Given the description of an element on the screen output the (x, y) to click on. 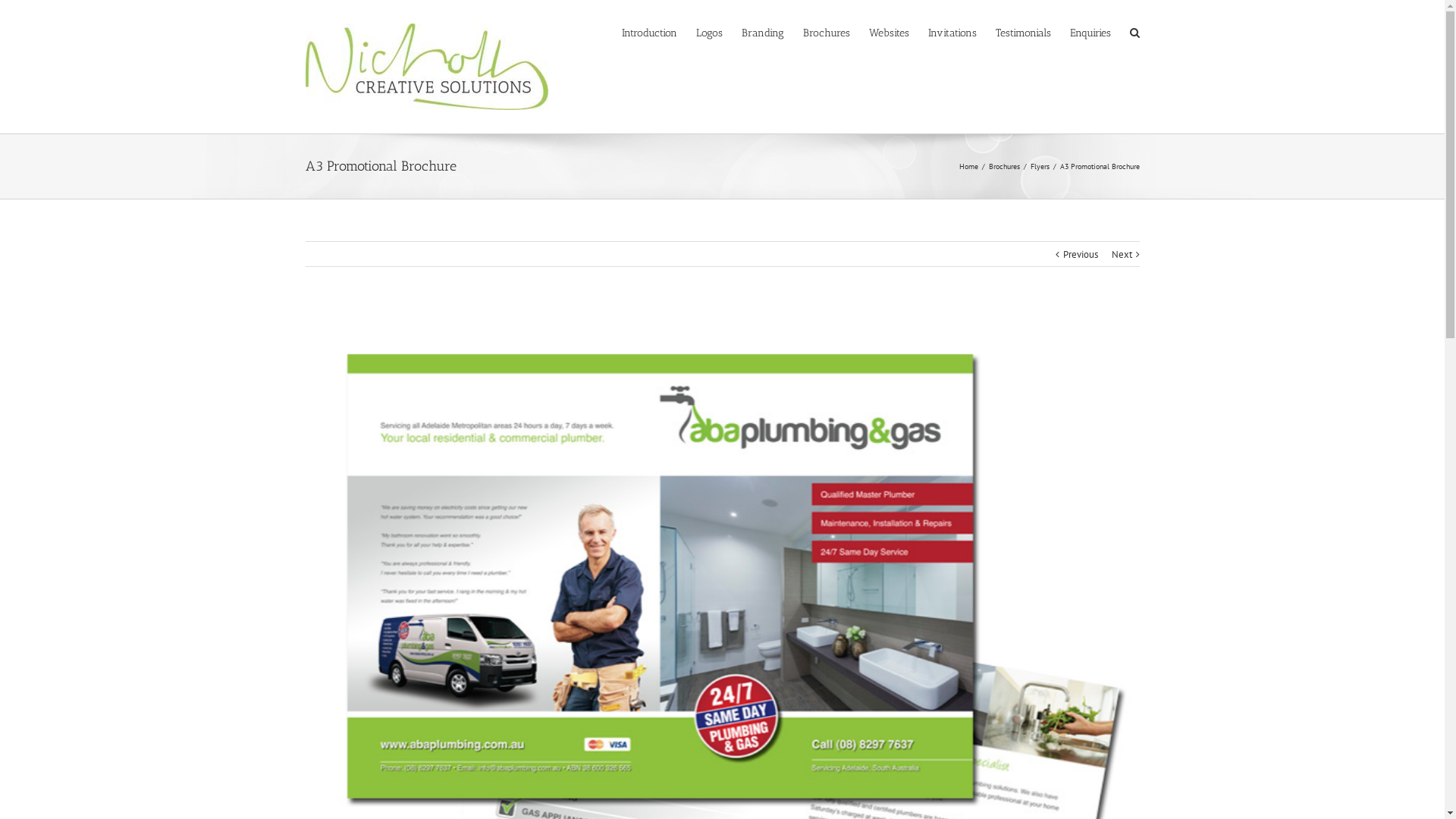
Branding Element type: text (762, 31)
Introduction Element type: text (649, 31)
Invitations Element type: text (952, 31)
Websites Element type: text (889, 31)
Home Element type: text (967, 166)
Logos Element type: text (709, 31)
Brochures Element type: text (1003, 166)
Previous Element type: text (1080, 254)
Flyers Element type: text (1038, 166)
Testimonials Element type: text (1022, 31)
Enquiries Element type: text (1089, 31)
Brochures Element type: text (825, 31)
Next Element type: text (1121, 254)
